Given the description of an element on the screen output the (x, y) to click on. 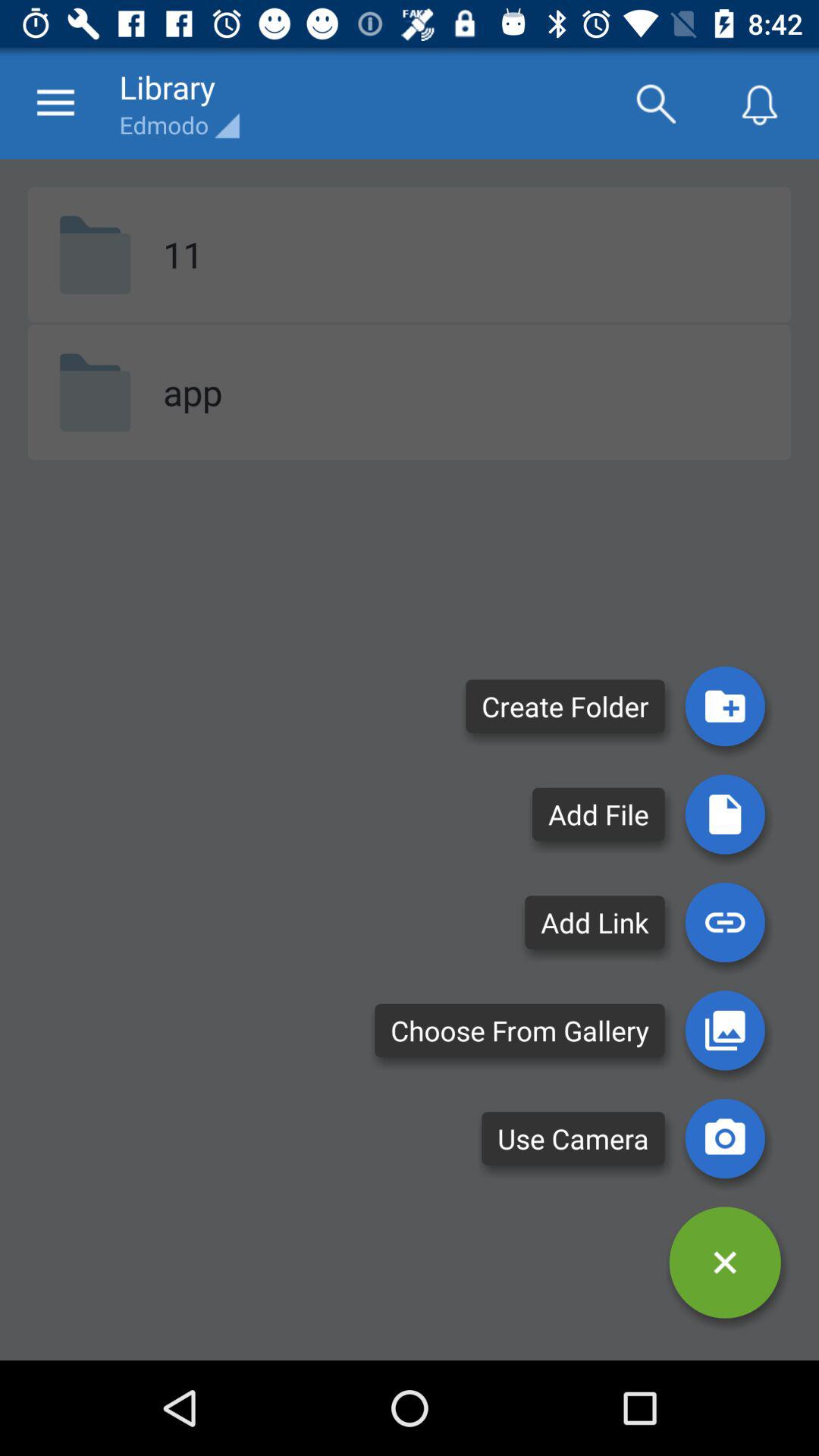
add a link (725, 922)
